Given the description of an element on the screen output the (x, y) to click on. 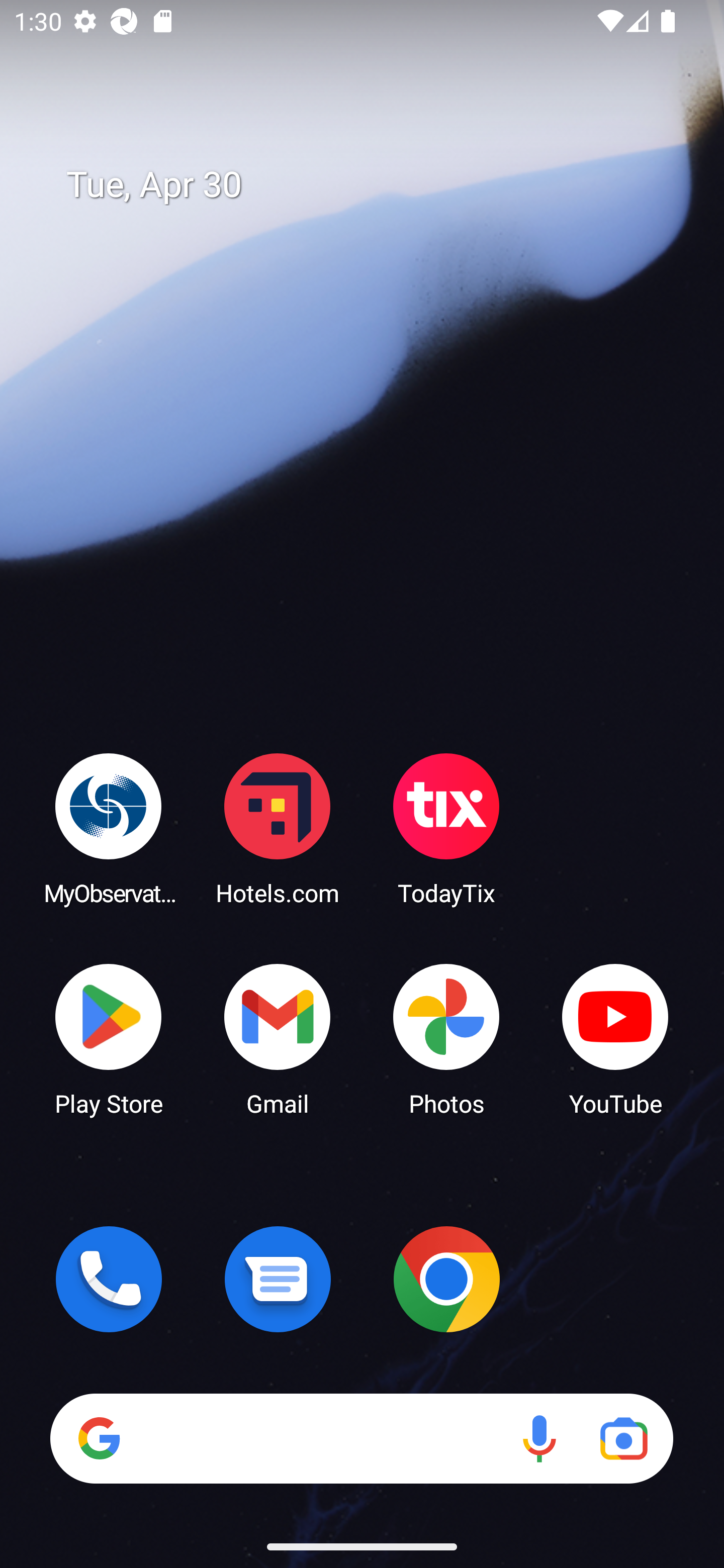
Tue, Apr 30 (375, 184)
MyObservatory (108, 828)
Hotels.com (277, 828)
TodayTix (445, 828)
Play Store (108, 1038)
Gmail (277, 1038)
Photos (445, 1038)
YouTube (615, 1038)
Phone (108, 1279)
Messages (277, 1279)
Chrome (446, 1279)
Voice search (539, 1438)
Google Lens (623, 1438)
